Given the description of an element on the screen output the (x, y) to click on. 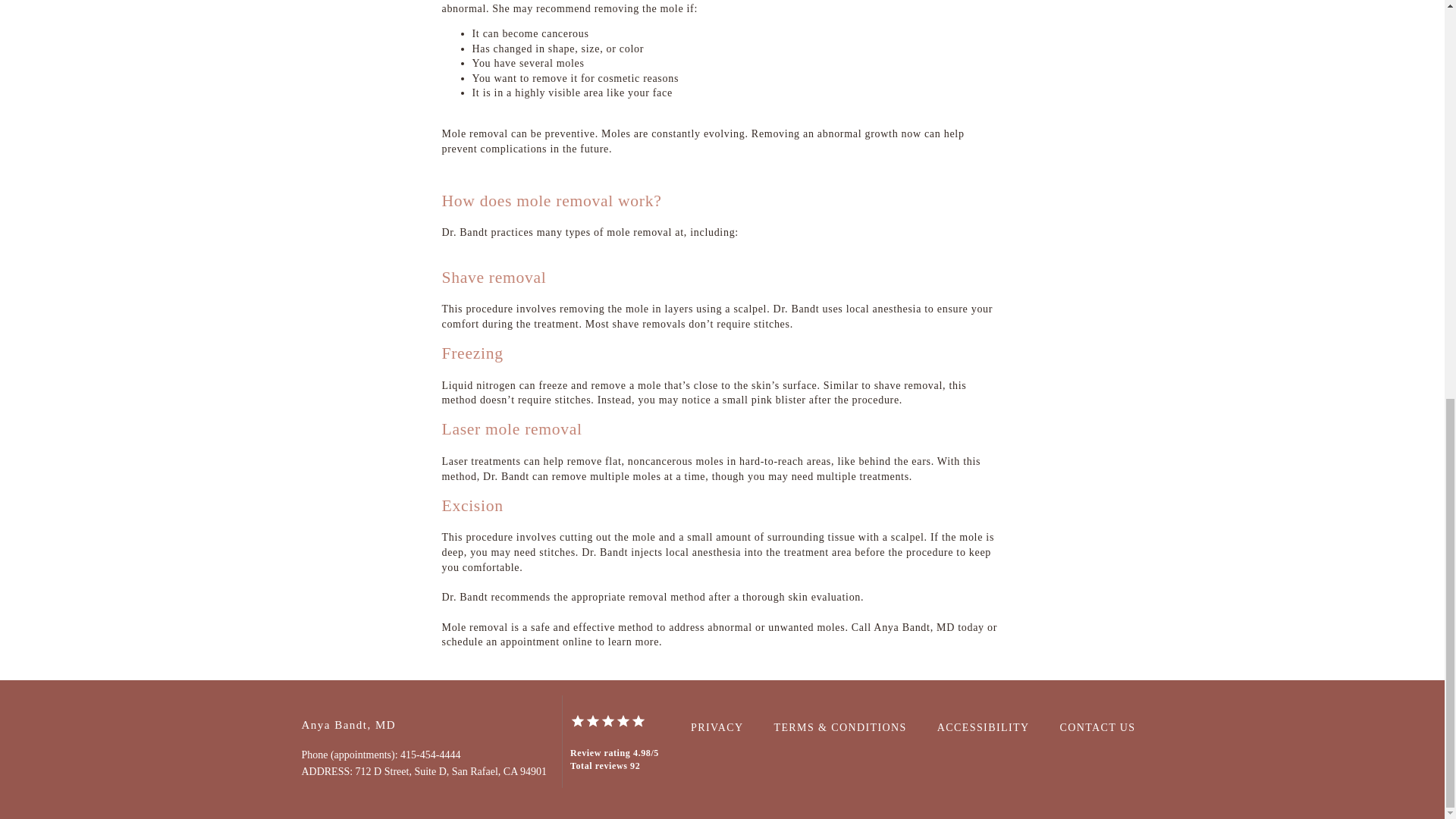
ACCESSIBILITY (983, 727)
CONTACT US (1097, 727)
PRIVACY (716, 727)
